Given the description of an element on the screen output the (x, y) to click on. 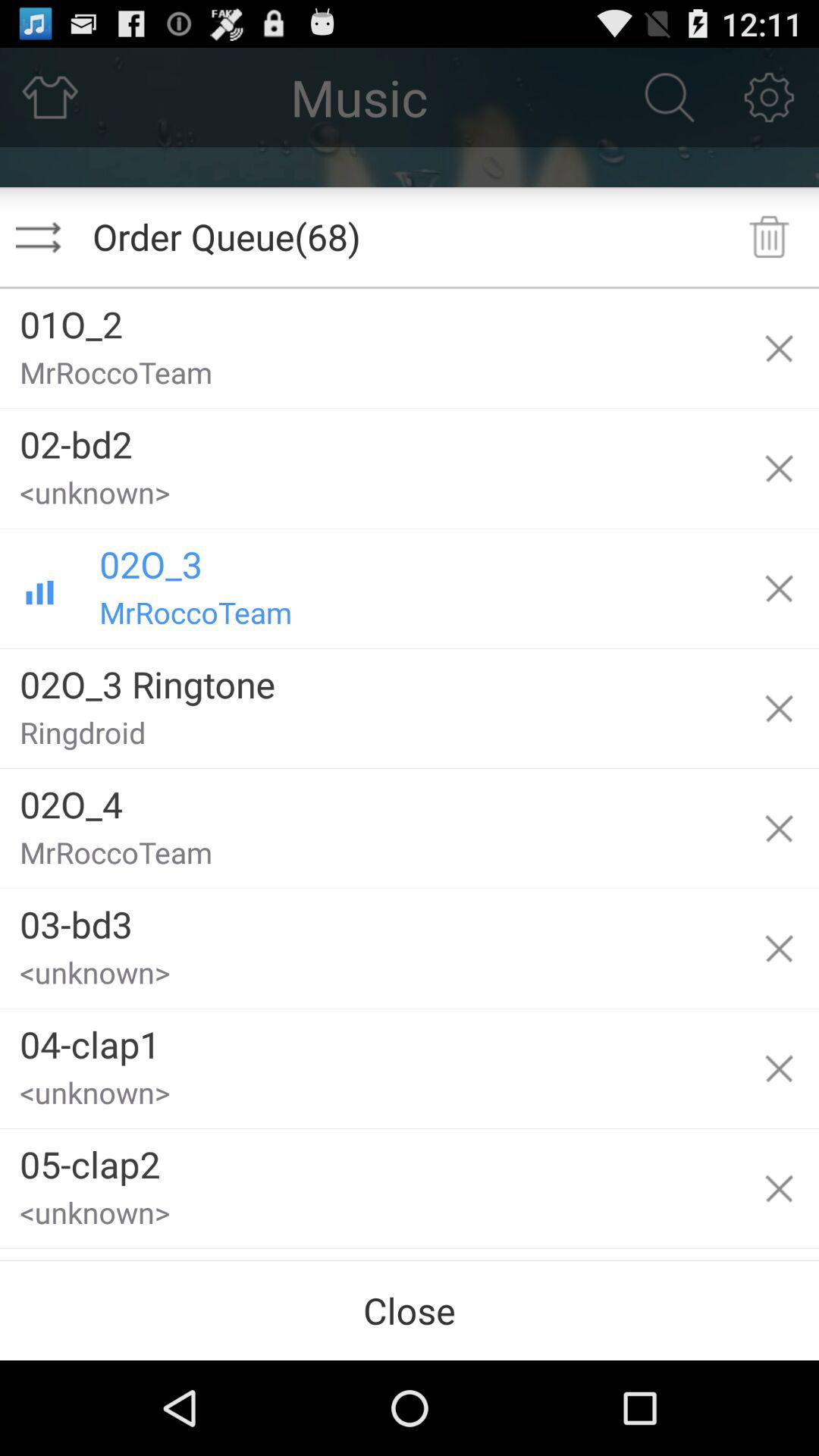
press icon below the mrroccoteam (369, 438)
